Given the description of an element on the screen output the (x, y) to click on. 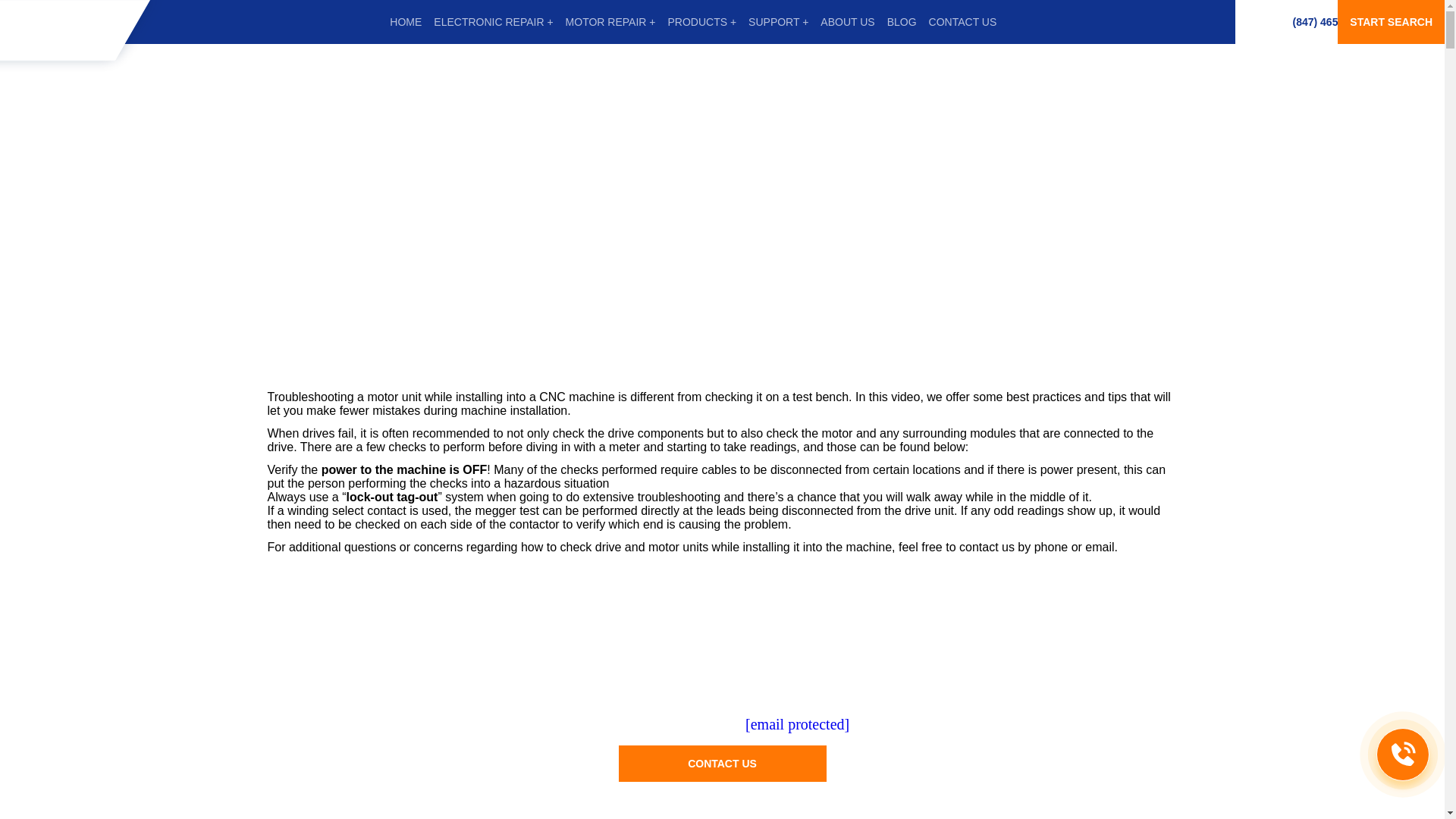
CONTACT US (722, 763)
CONTACT US (962, 22)
ABOUT US (848, 22)
START SEARCH (1391, 22)
